Given the description of an element on the screen output the (x, y) to click on. 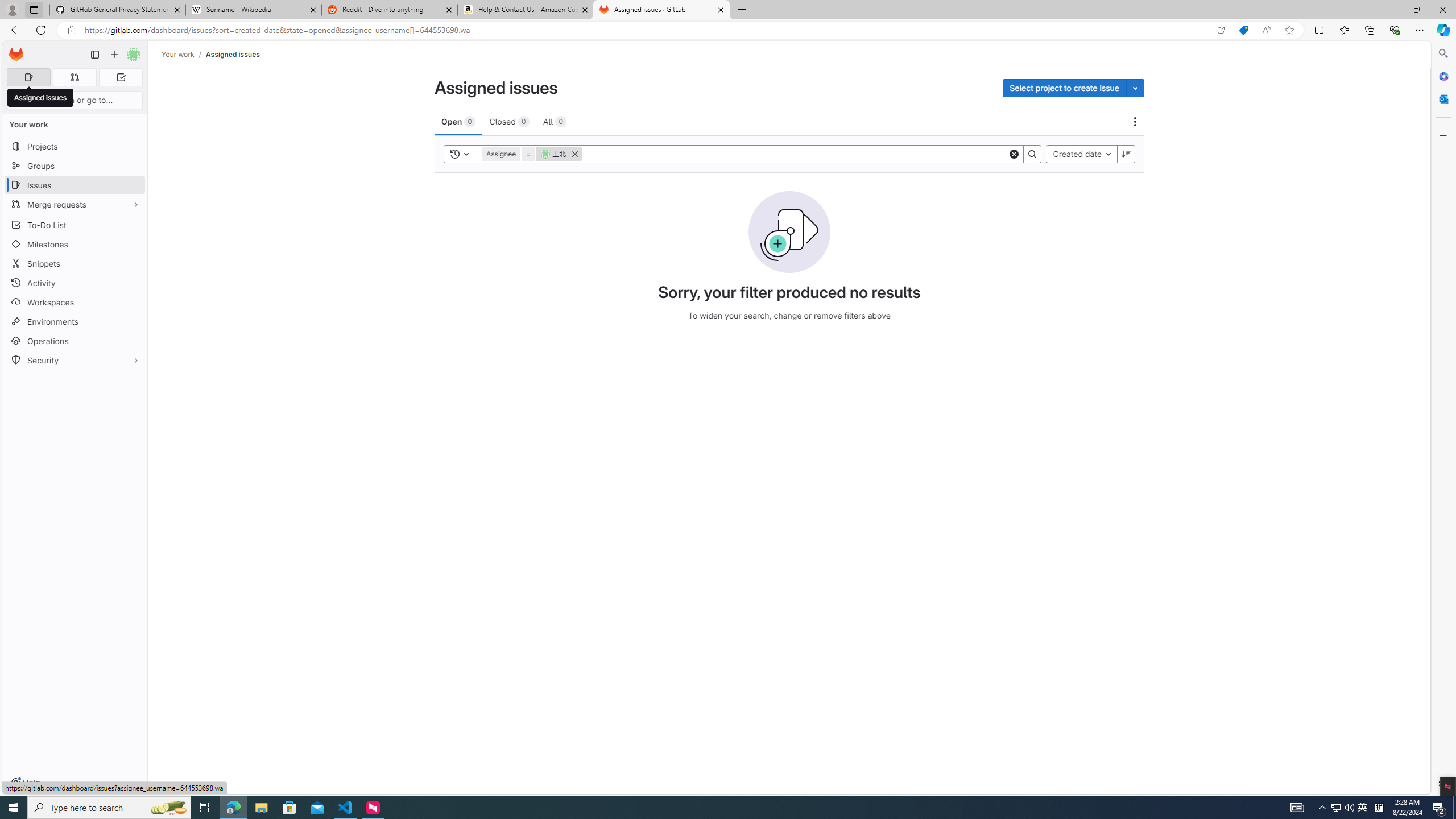
Customize (1442, 135)
Homepage (16, 54)
Merge requests (74, 203)
Groups (74, 165)
Milestones (74, 244)
Sort direction: Descending (1125, 153)
Toggle project select (1134, 87)
